Given the description of an element on the screen output the (x, y) to click on. 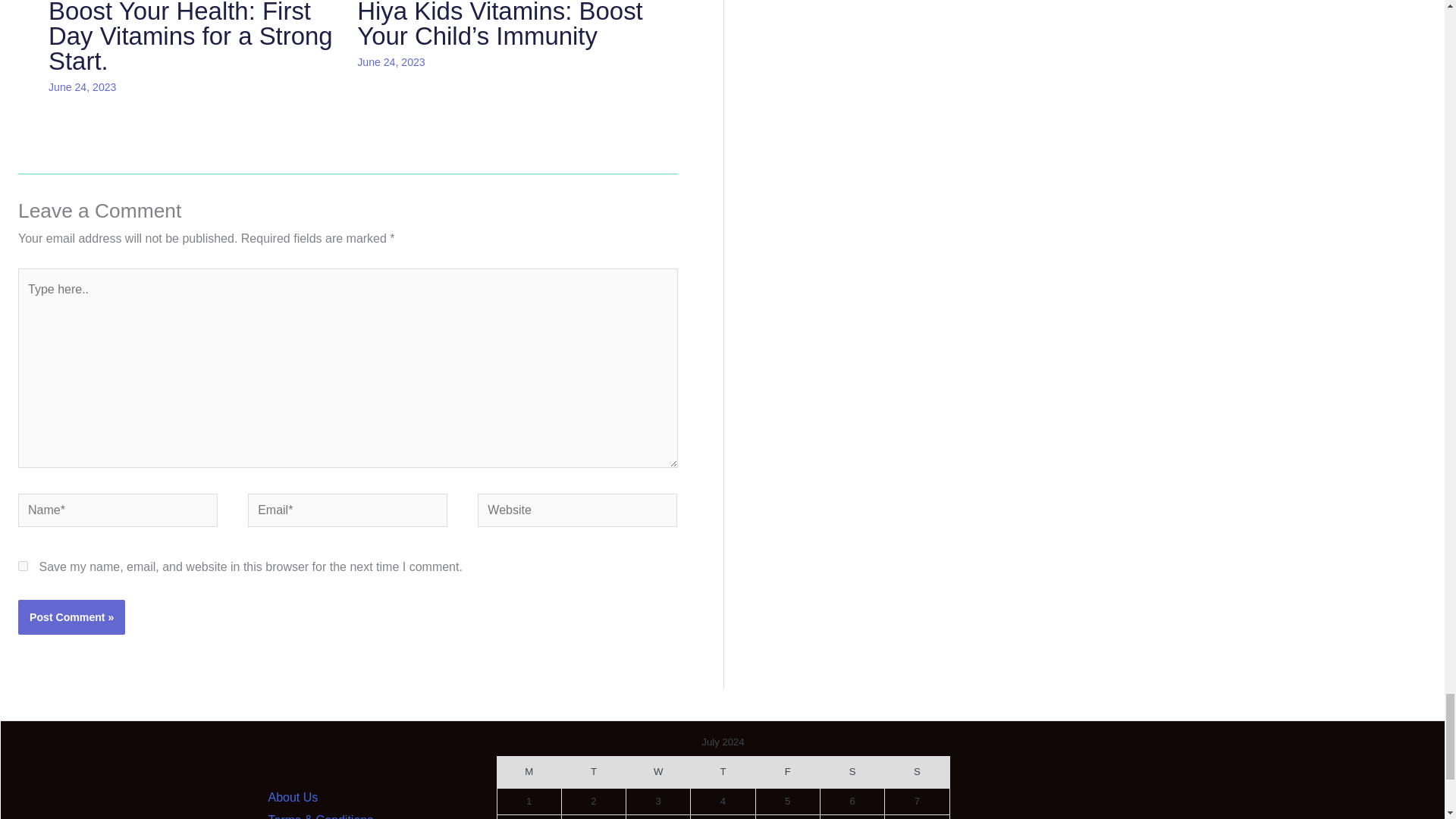
Friday (787, 772)
Sunday (917, 772)
Monday (528, 772)
Thursday (722, 772)
yes (22, 565)
Saturday (851, 772)
Wednesday (658, 772)
Tuesday (593, 772)
